Given the description of an element on the screen output the (x, y) to click on. 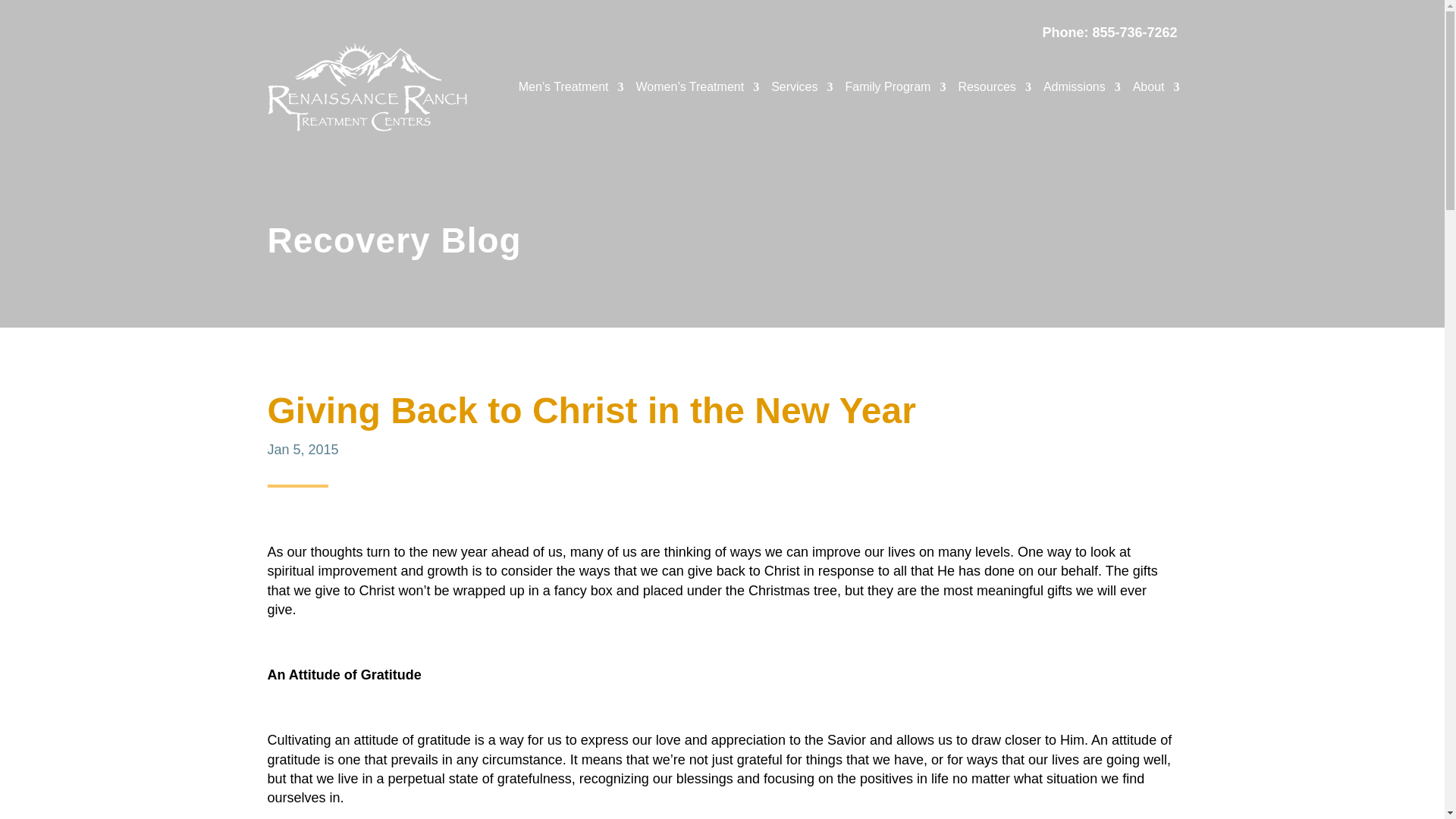
Family Program (894, 87)
Phone: 855-736-7262 (1109, 32)
